Given the description of an element on the screen output the (x, y) to click on. 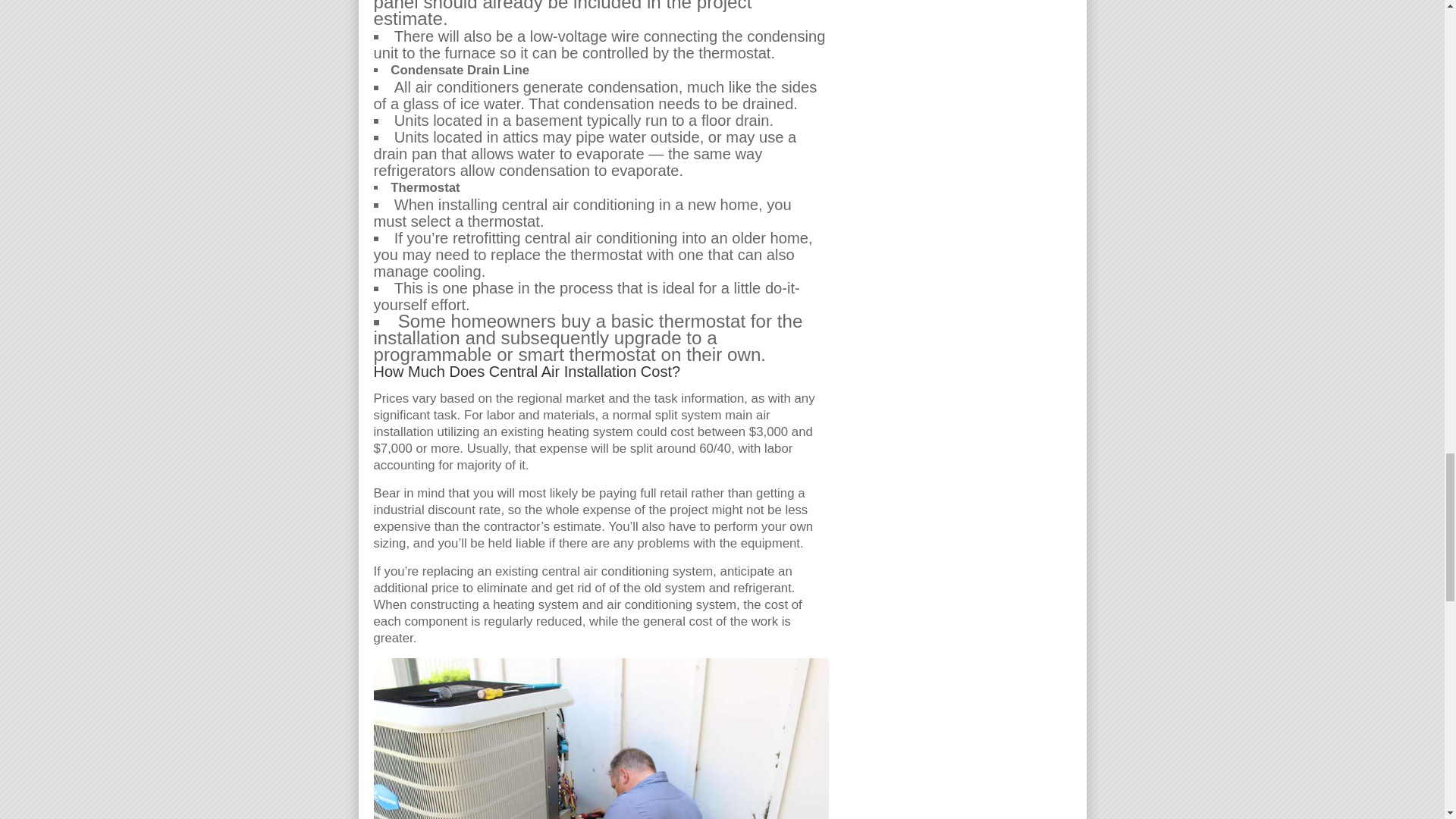
Central AC Installation in Englewood, FL 34224 (600, 738)
